Given the description of an element on the screen output the (x, y) to click on. 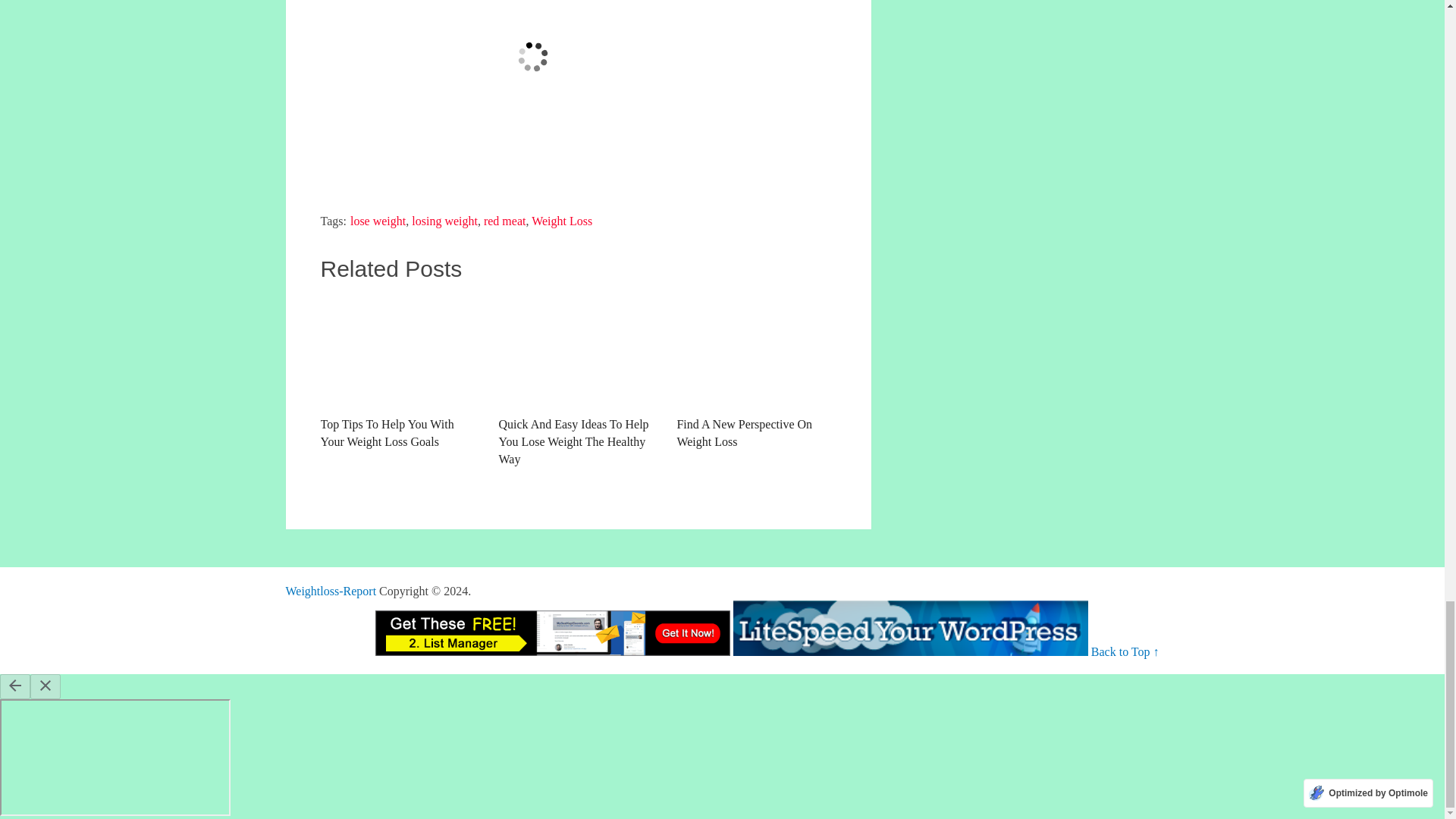
Find A New Perspective On Weight Loss (756, 372)
Weightloss-Report (330, 590)
Weight Loss (561, 220)
Top Tips To Help You With Your Weight Loss Goals (399, 372)
red meat (504, 220)
Find A New Perspective On Weight Loss (756, 350)
Top Tips To Help You With Your Weight Loss Goals (399, 350)
Top Tips To Help You With Your Weight Loss Goals (399, 372)
Quick And Easy Ideas To Help You Lose Weight The Healthy Way (577, 350)
YouTube video player (532, 88)
Quick And Easy Ideas To Help You Lose Weight The Healthy Way (577, 380)
Quick And Easy Ideas To Help You Lose Weight The Healthy Way (577, 380)
lose weight (378, 220)
Find A New Perspective On Weight Loss (756, 372)
losing weight (444, 220)
